Given the description of an element on the screen output the (x, y) to click on. 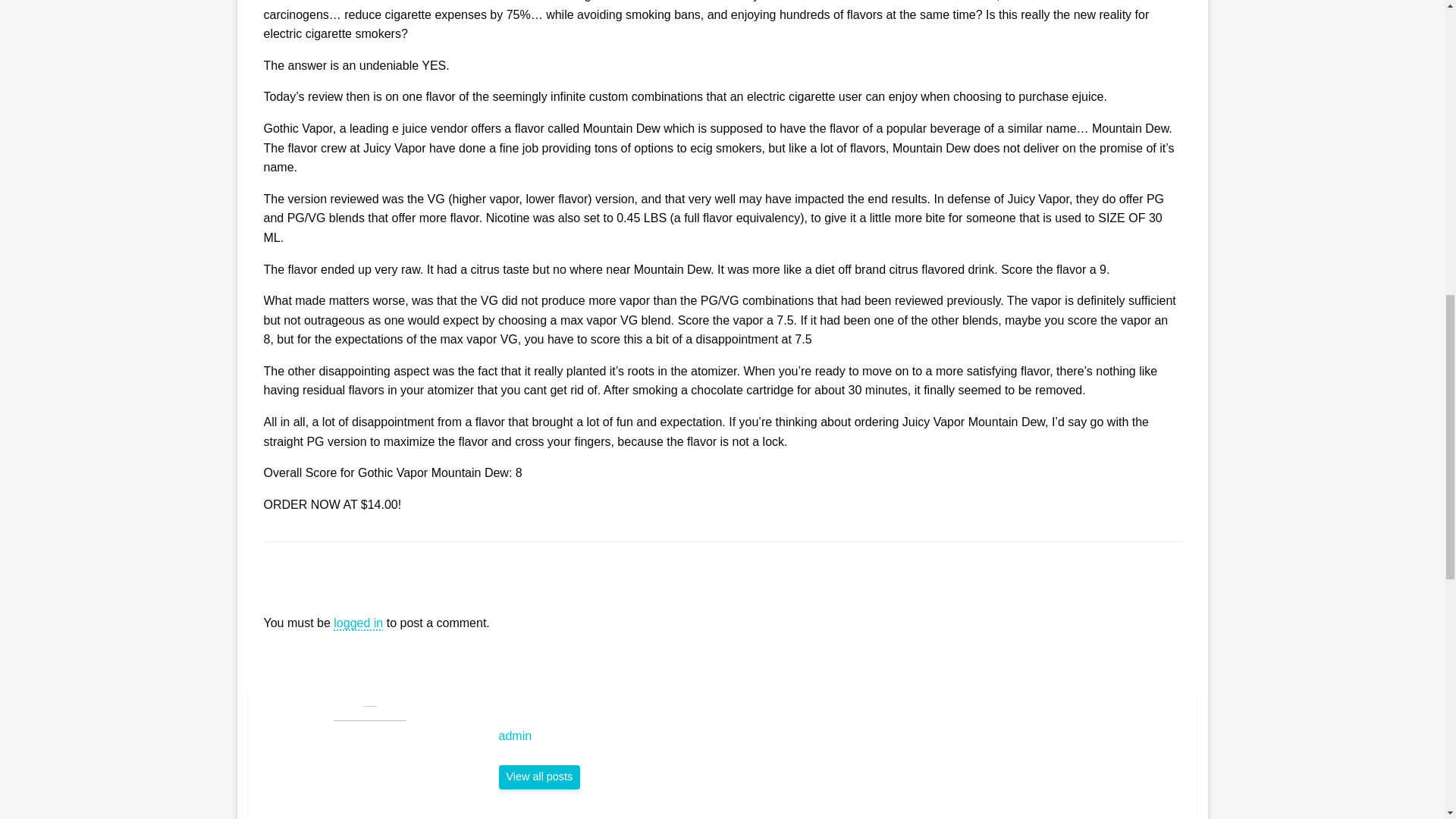
View all posts (539, 776)
admin (839, 735)
admin (839, 735)
admin (539, 776)
logged in (357, 622)
